Given the description of an element on the screen output the (x, y) to click on. 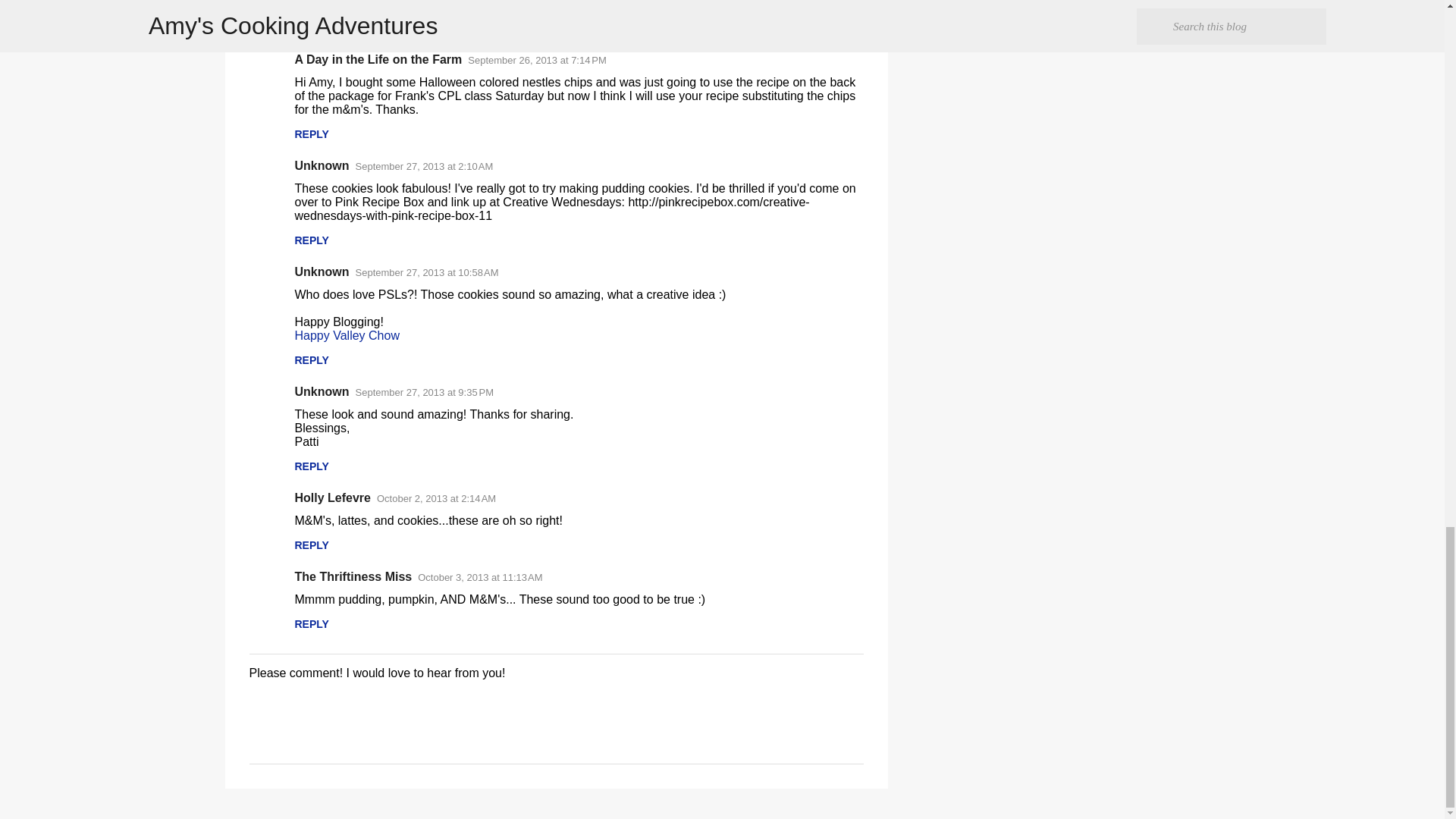
REPLY (311, 28)
Unknown (321, 164)
REPLY (311, 133)
A Day in the Life on the Farm (377, 59)
REPLY (311, 240)
Unknown (321, 271)
